Given the description of an element on the screen output the (x, y) to click on. 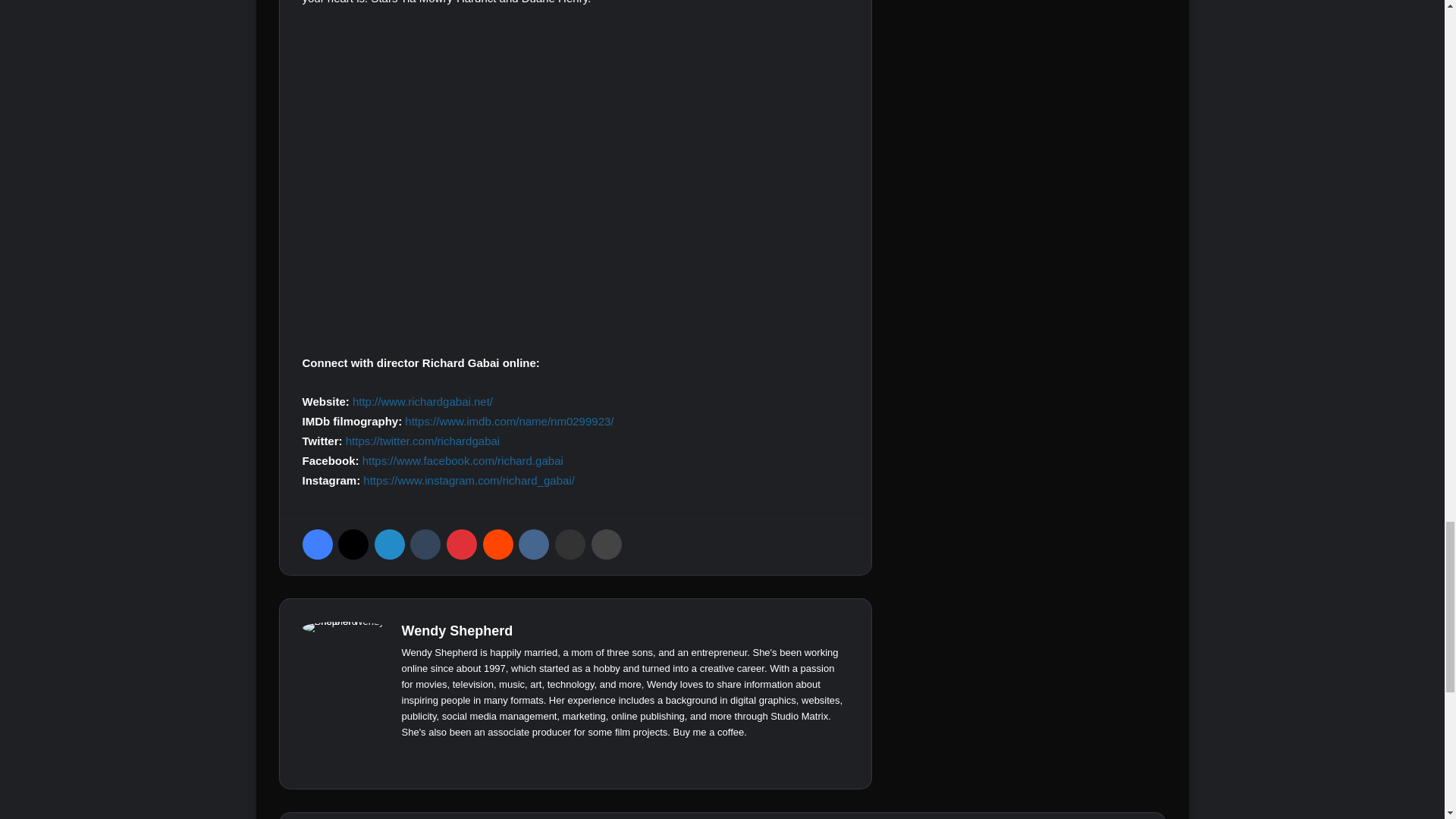
VKontakte (533, 544)
Facebook (316, 544)
Print (606, 544)
Reddit (498, 544)
Tumblr (425, 544)
X (352, 544)
Pinterest (461, 544)
LinkedIn (389, 544)
Share via Email (569, 544)
